Given the description of an element on the screen output the (x, y) to click on. 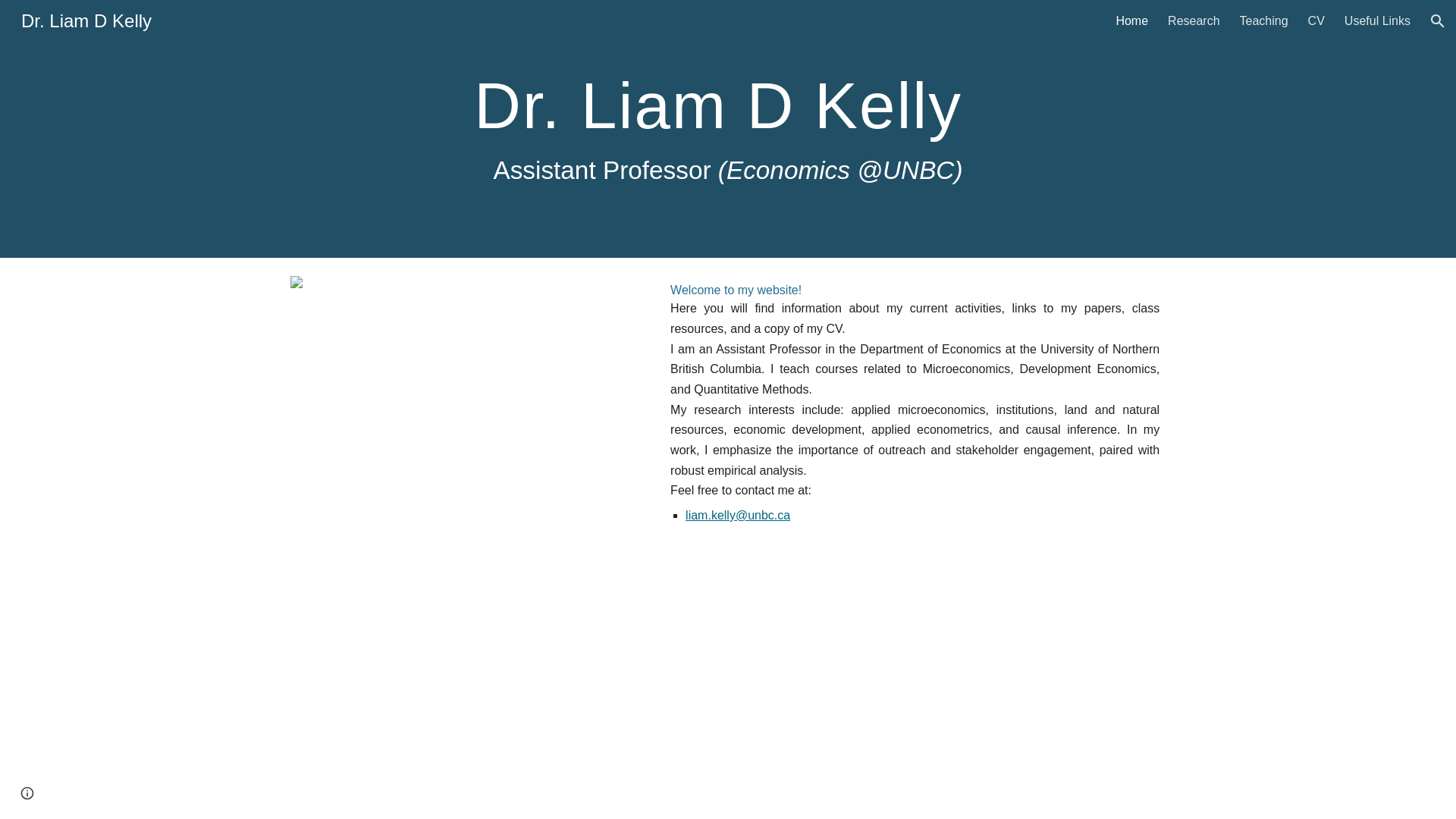
Useful Links (1376, 20)
CV (1315, 20)
Research (1193, 20)
Teaching (1264, 20)
Home (1131, 20)
Dr. Liam D Kelly (85, 19)
